Given the description of an element on the screen output the (x, y) to click on. 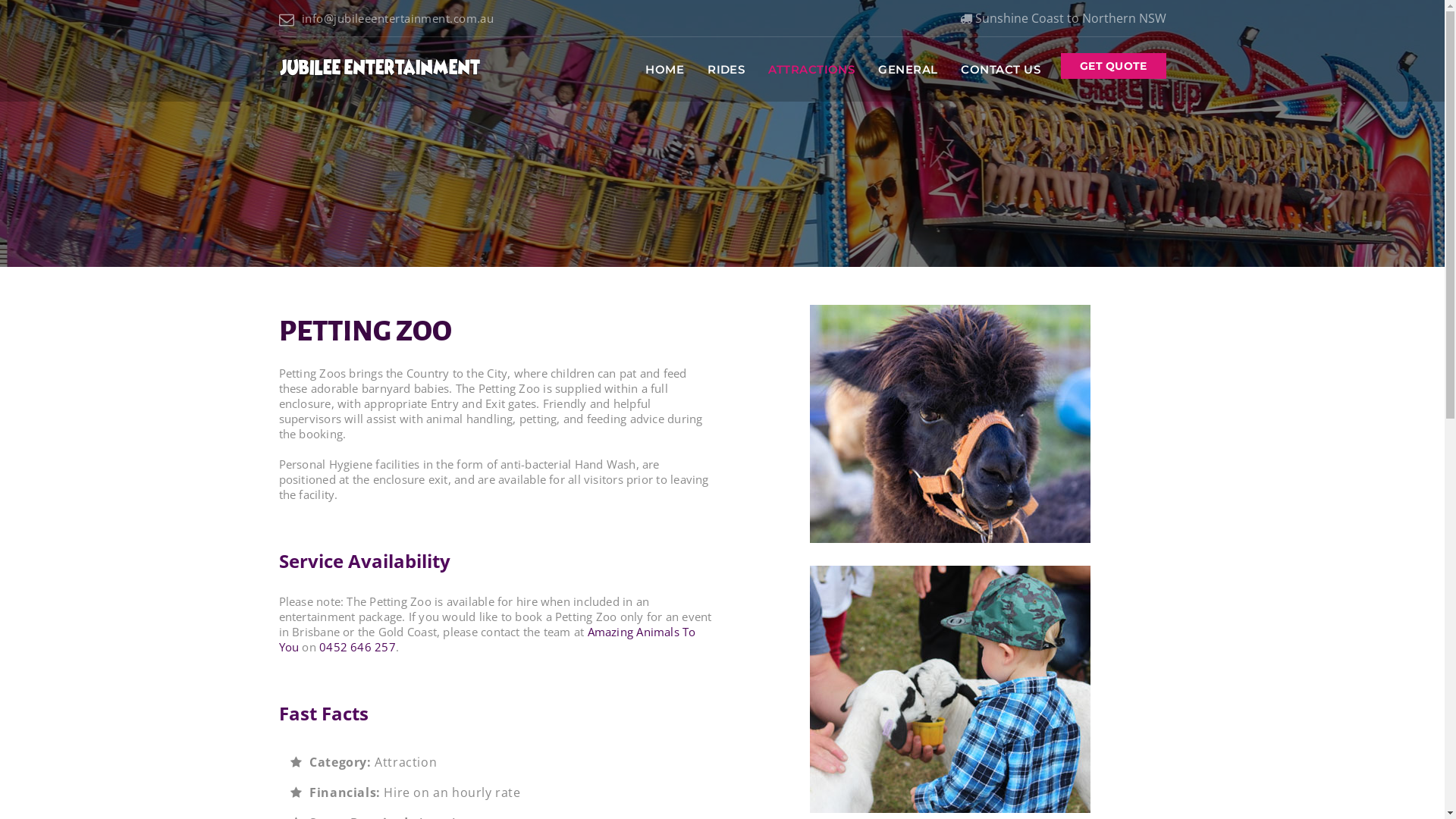
info@jubileeentertainment.com.au Element type: text (386, 17)
GET QUOTE Element type: text (1113, 65)
GENERAL Element type: text (907, 69)
CONTACT US Element type: text (1000, 69)
RIDES Element type: text (725, 69)
Sunshine Coast to Northern NSW Element type: text (1063, 17)
0452 646 257 Element type: text (357, 646)
HOME Element type: text (664, 69)
Amazing Animals To You Element type: text (487, 639)
ATTRACTIONS Element type: text (811, 69)
